Given the description of an element on the screen output the (x, y) to click on. 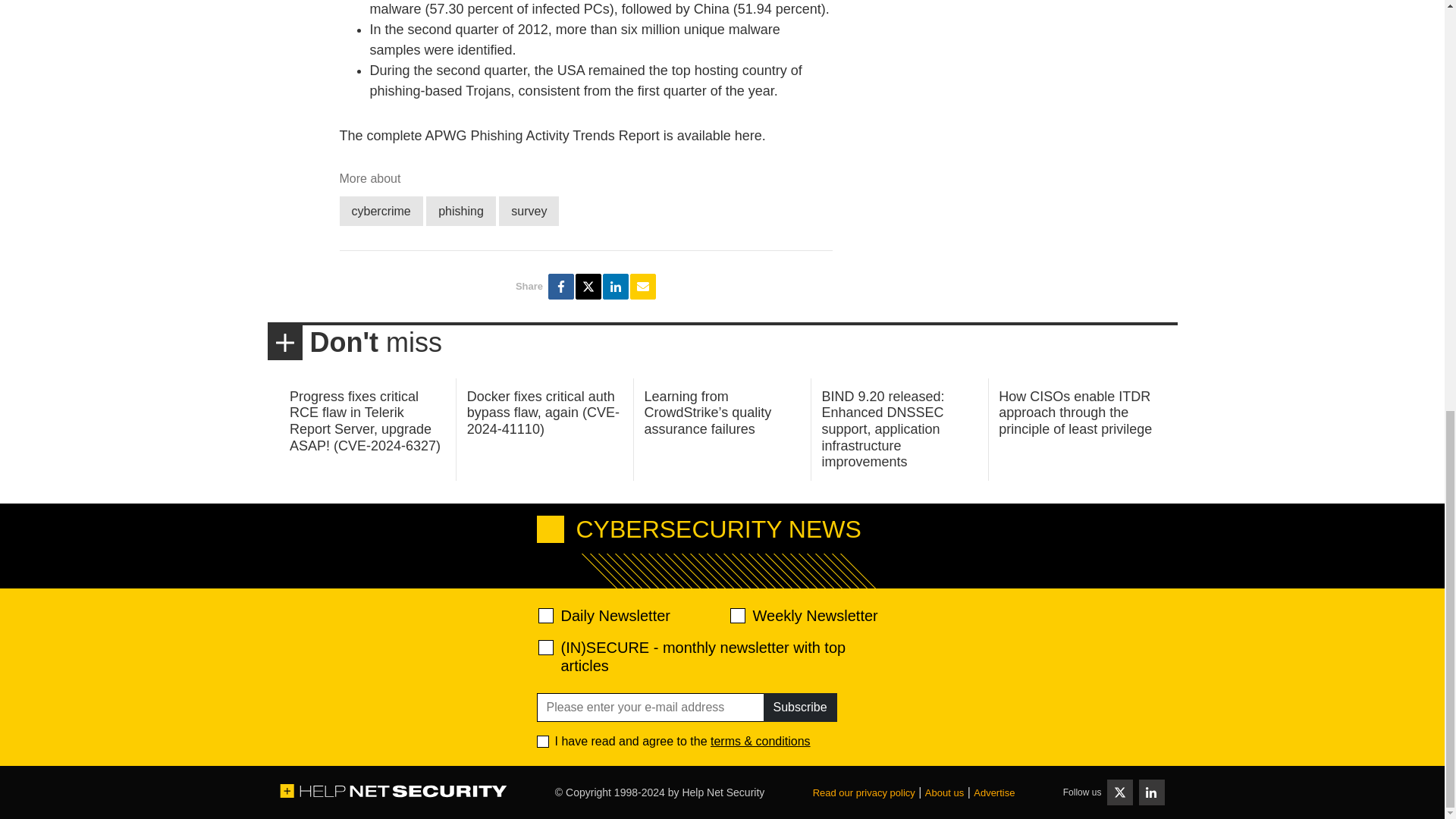
phishing (461, 211)
Share Phishing attacks increasingly target brands on Twitter (588, 286)
phishing (461, 211)
cybercrime (381, 211)
1 (542, 741)
28abe5d9ef (545, 647)
cybercrime (381, 211)
survey (529, 211)
survey (529, 211)
Share Phishing attacks increasingly target brands via E-mail (643, 286)
d2d471aafa (736, 615)
